Given the description of an element on the screen output the (x, y) to click on. 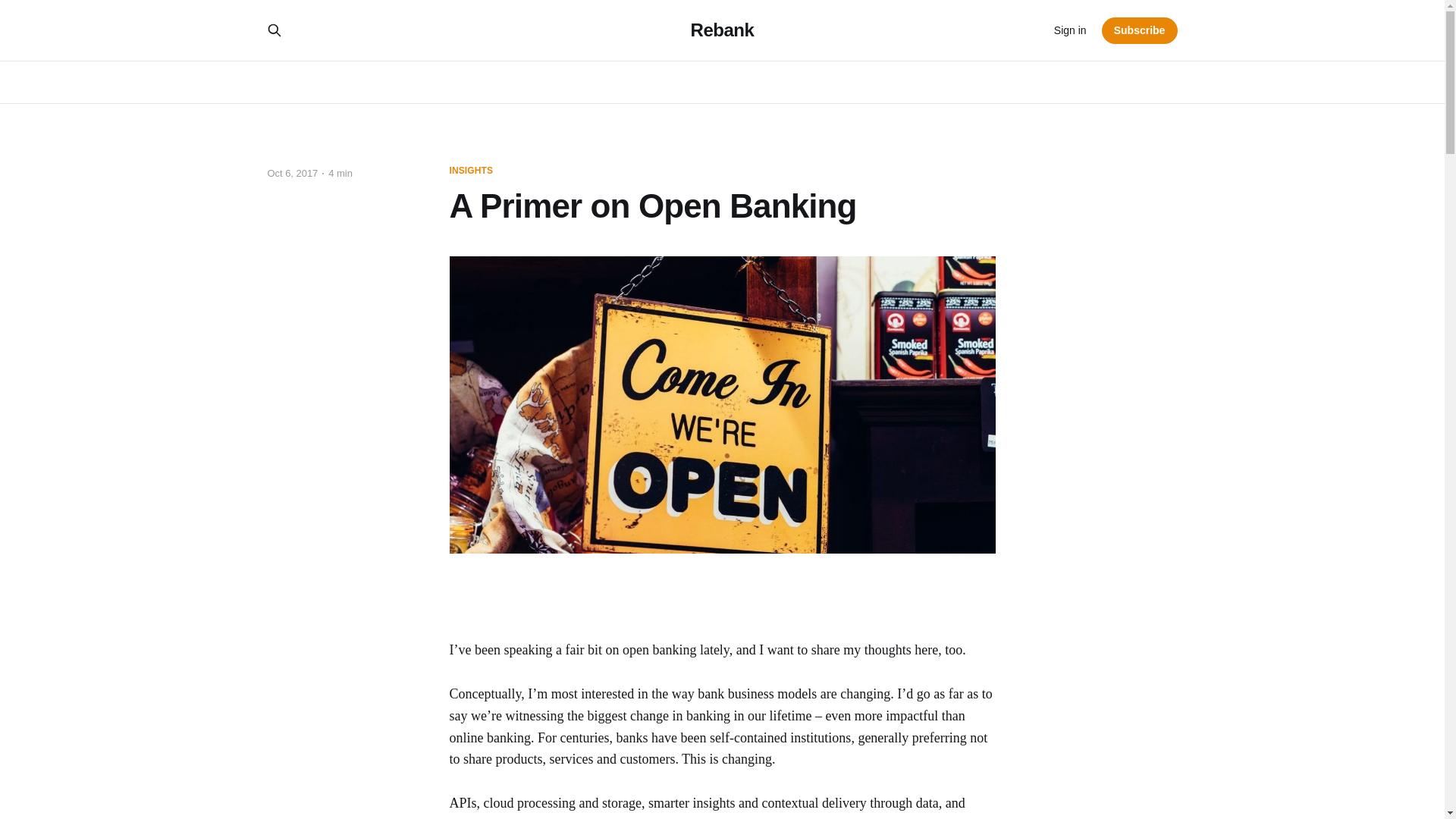
Sign in (1070, 30)
INSIGHTS (470, 170)
Subscribe (1139, 29)
Rebank (722, 30)
